Given the description of an element on the screen output the (x, y) to click on. 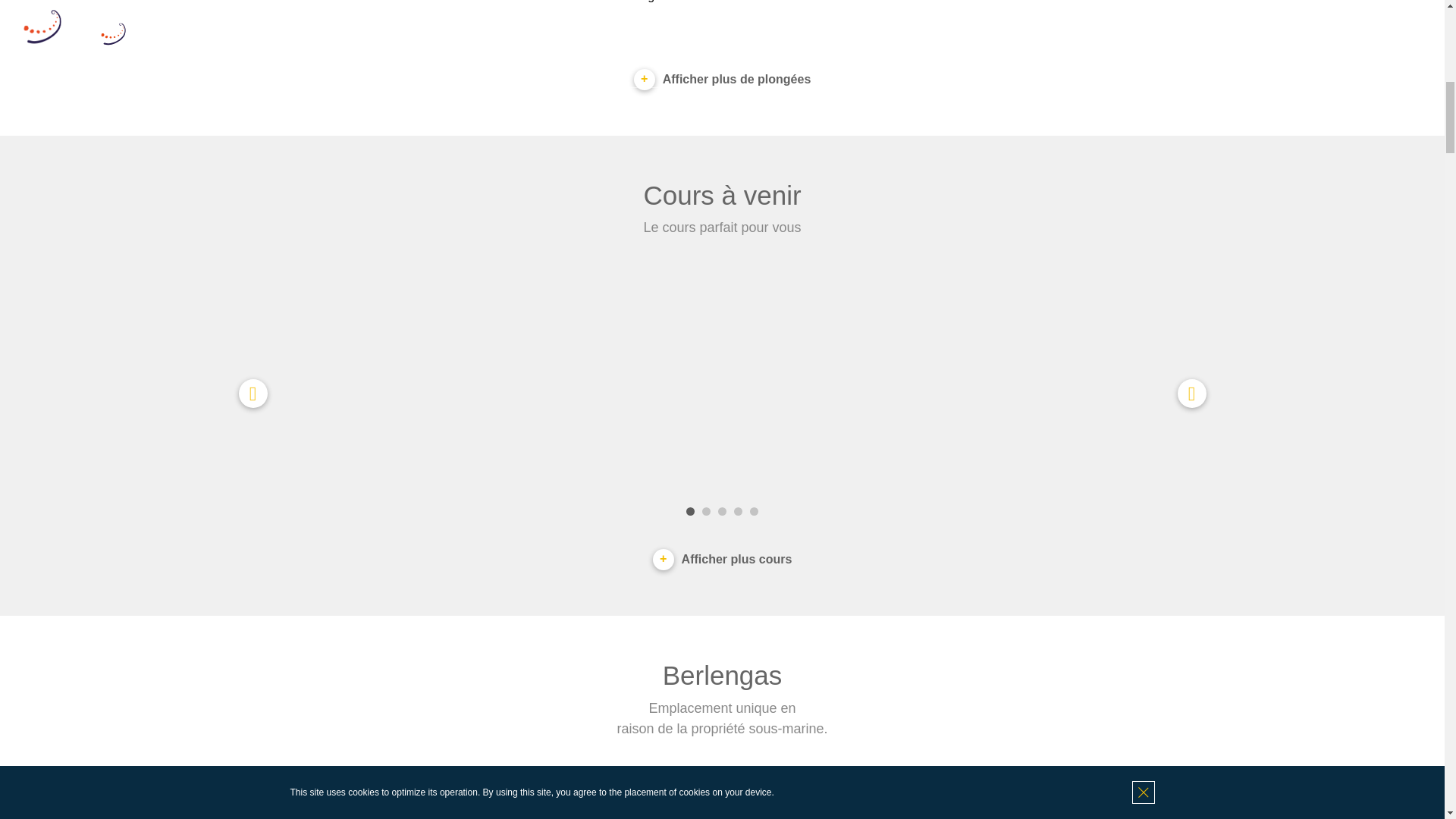
Plus d'info (347, 1)
